Given the description of an element on the screen output the (x, y) to click on. 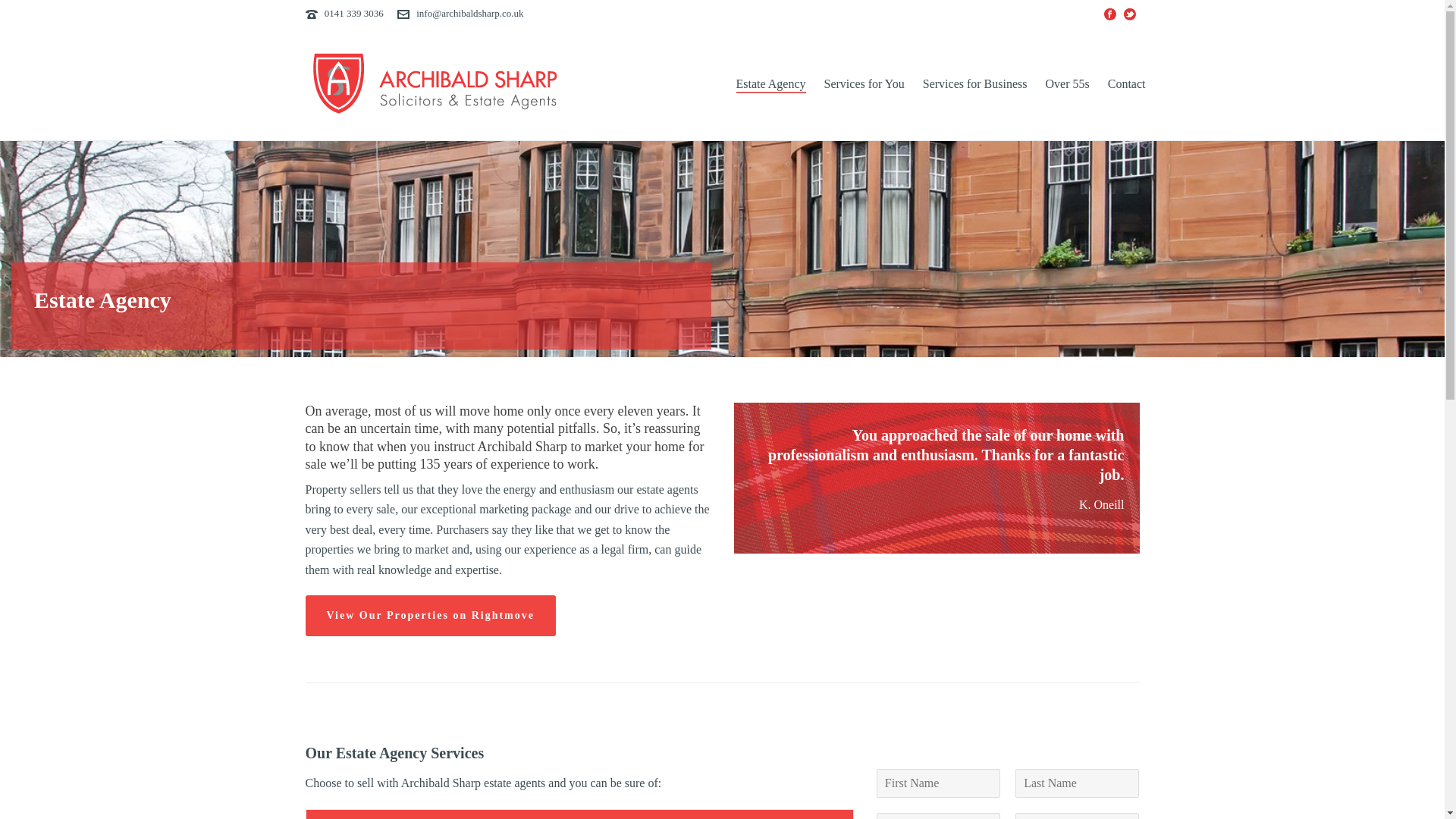
Services for You (864, 84)
Over 55s (1067, 84)
Contact (1126, 84)
Contact (1126, 84)
Services for You (864, 84)
Estate Agency (770, 84)
View Our Properties on Rightmove (430, 615)
0141 339 3036 (354, 12)
Over 55s (1067, 84)
View Our Properties on Rightmove (430, 615)
Services for Business (975, 84)
Services for Business (975, 84)
Estate Agency (770, 84)
